Given the description of an element on the screen output the (x, y) to click on. 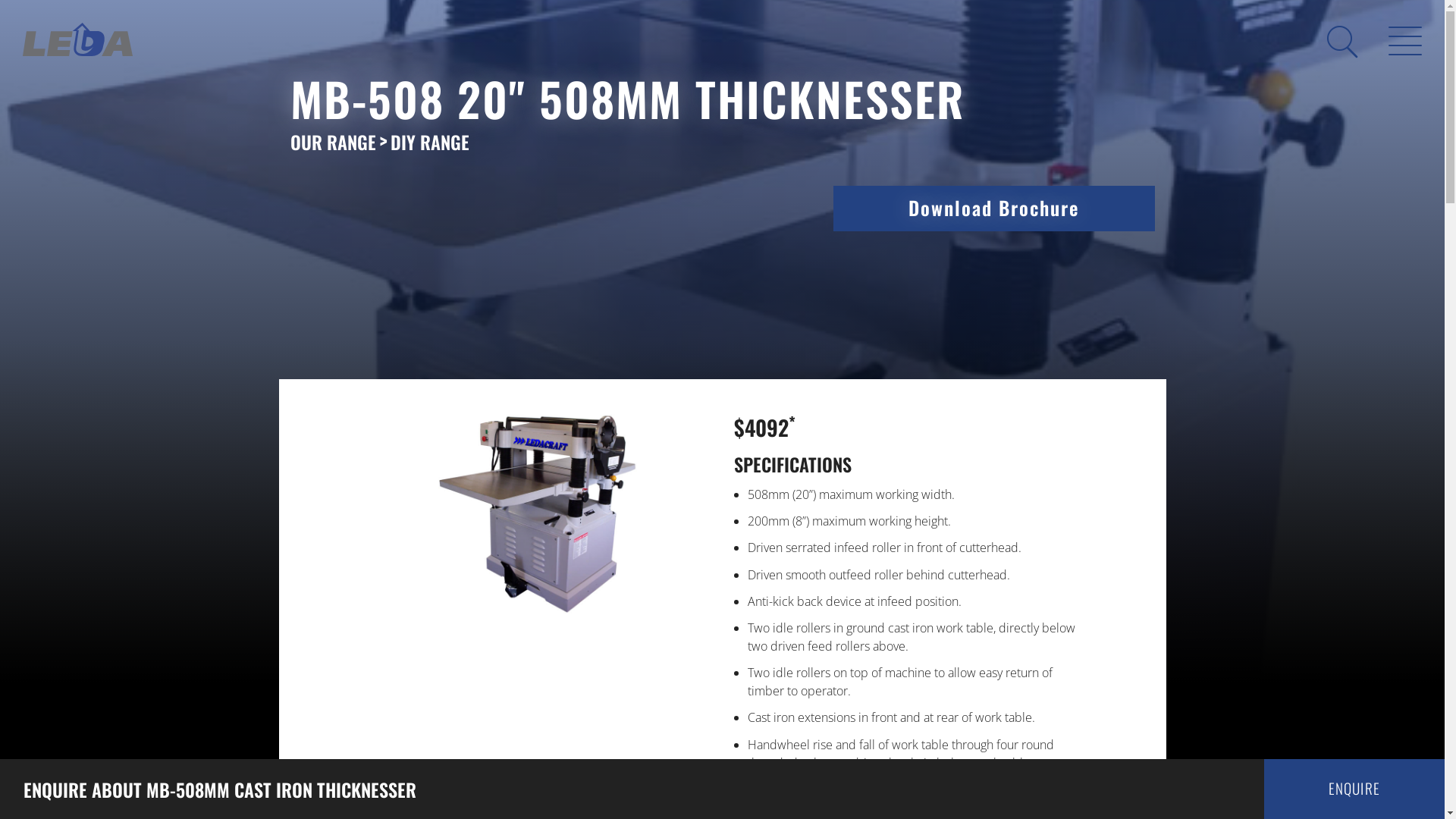
DIY RANGE Element type: text (428, 145)
Download Brochure Element type: text (993, 208)
